Given the description of an element on the screen output the (x, y) to click on. 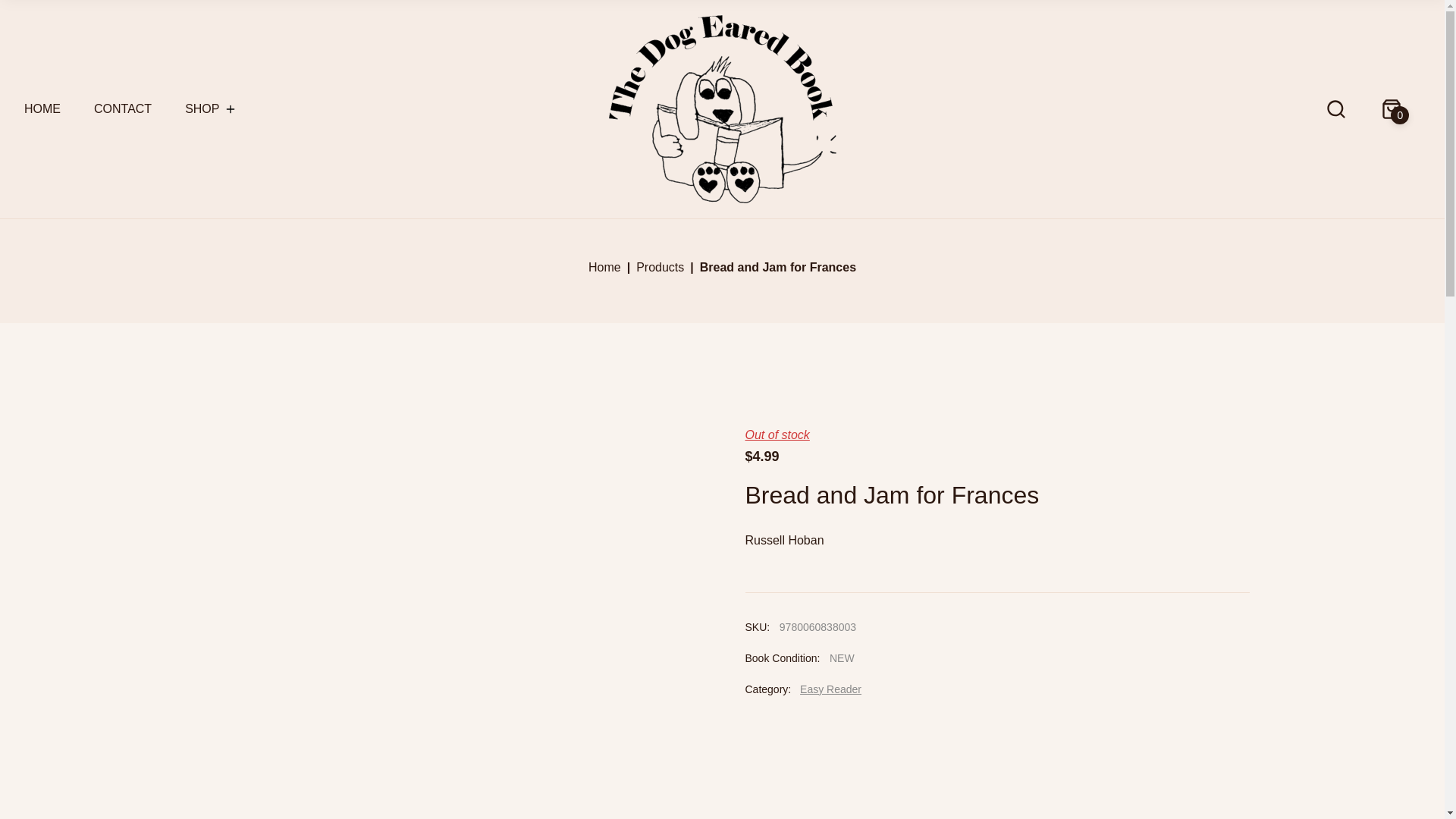
HOME (42, 108)
CONTACT (122, 108)
SHOP (202, 108)
